Given the description of an element on the screen output the (x, y) to click on. 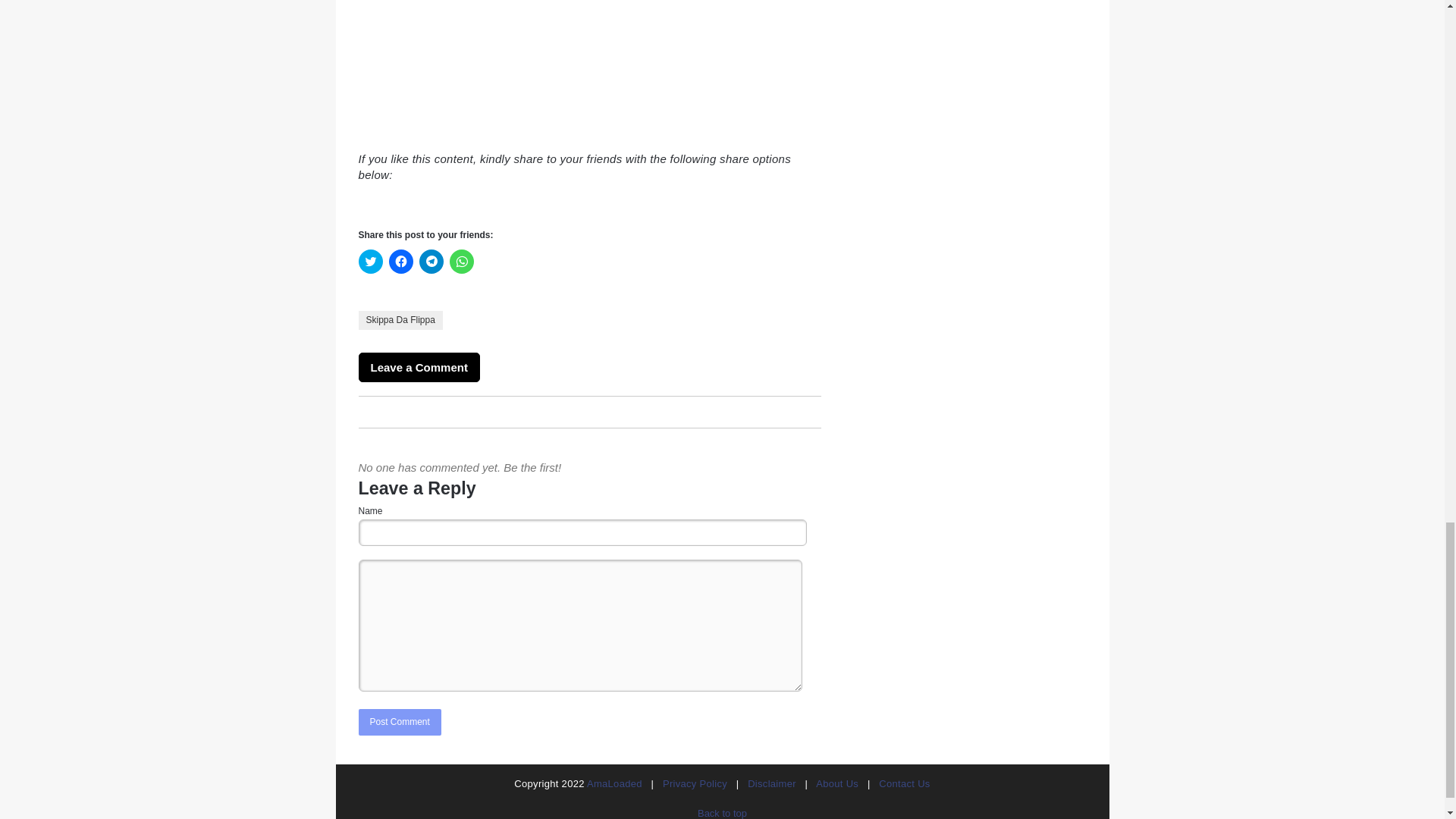
Post Comment (399, 722)
Skippa Da Flippa - 3 am in Miami (547, 66)
Leave a Comment (418, 367)
Click to share on WhatsApp (460, 261)
Click to share on Telegram (430, 261)
Click to share on Facebook (400, 261)
Skippa Da Flippa (400, 320)
Post Comment (399, 722)
Click to share on Twitter (369, 261)
